Given the description of an element on the screen output the (x, y) to click on. 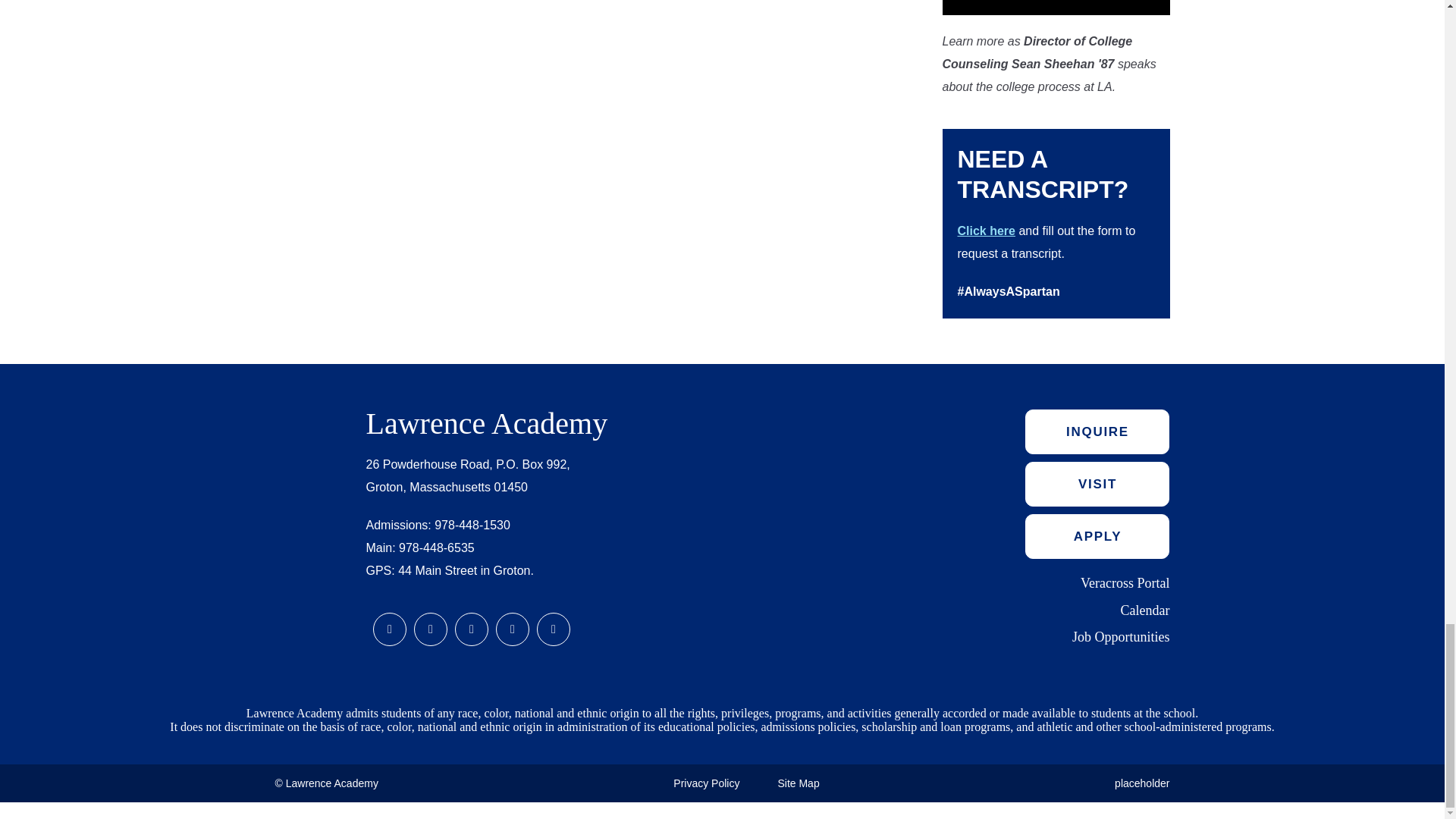
Powered by Finalsite opens in a new window (50, 808)
